Given the description of an element on the screen output the (x, y) to click on. 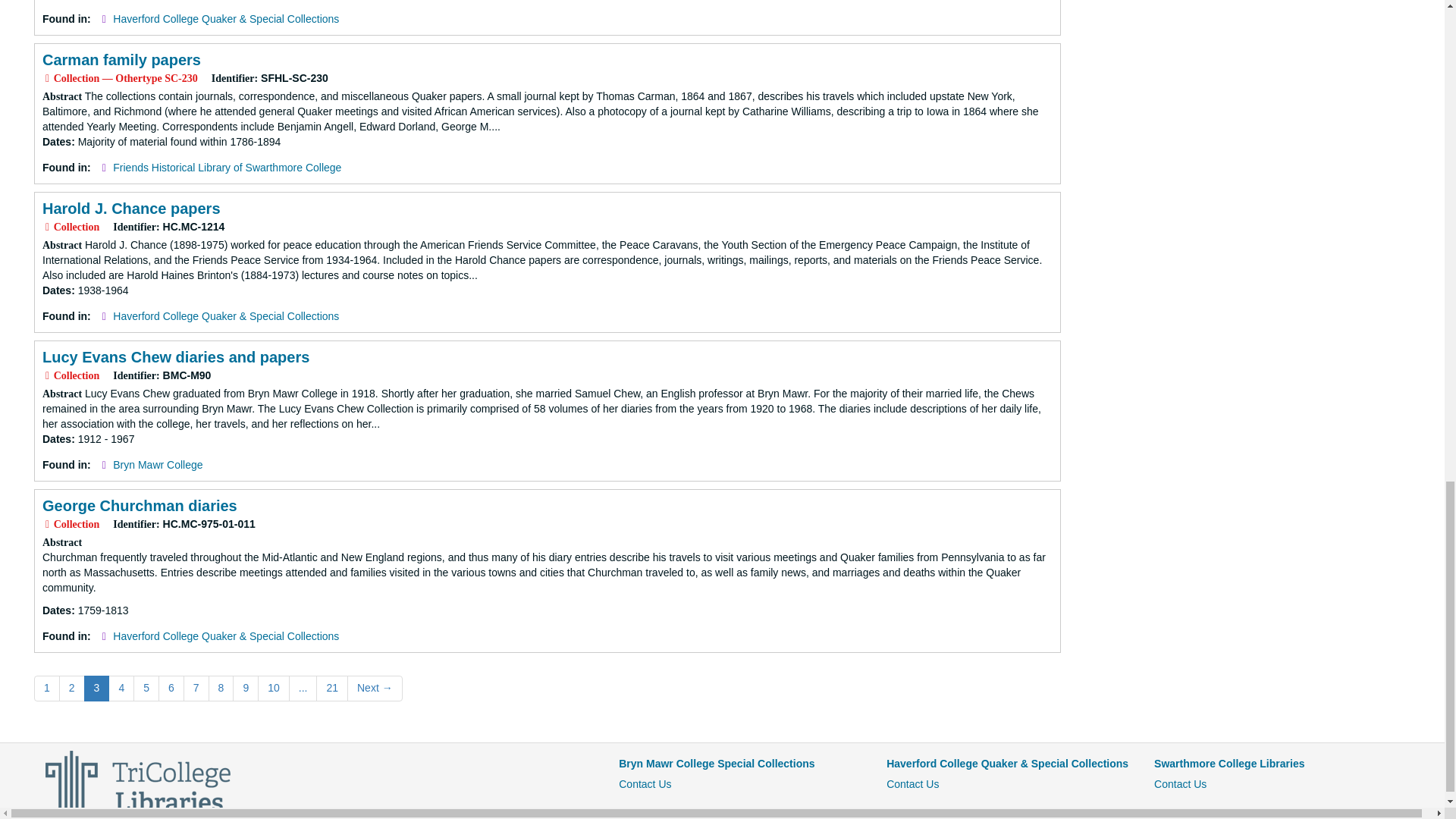
Carman family papers (121, 59)
Friends Historical Library of Swarthmore College (226, 167)
Harold J. Chance papers (131, 208)
